Given the description of an element on the screen output the (x, y) to click on. 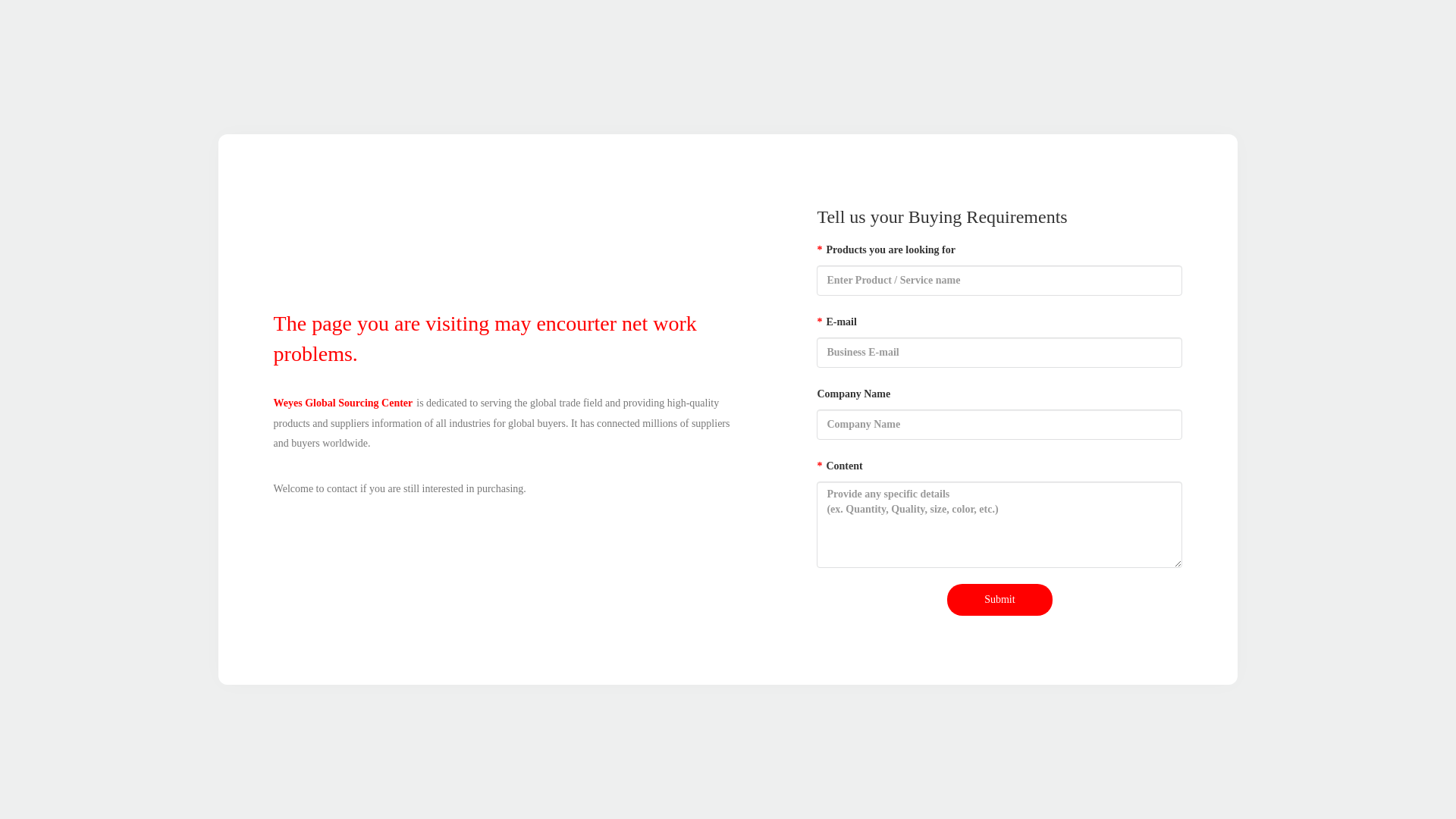
Submit (999, 599)
